Given the description of an element on the screen output the (x, y) to click on. 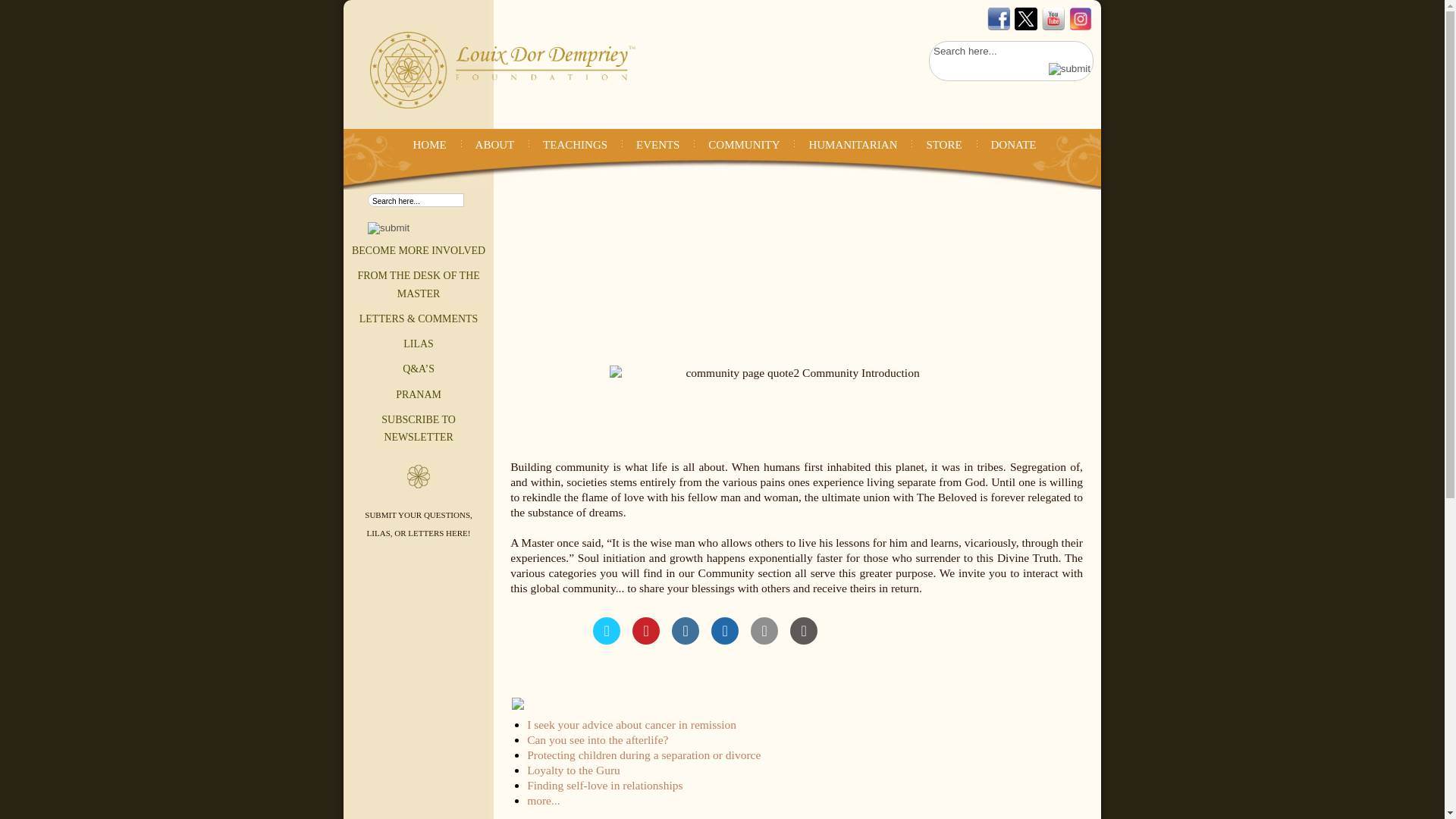
STORE (943, 144)
HOME (429, 144)
BECOME MORE INVOLVED (418, 250)
FROM THE DESK OF THE MASTER (417, 284)
ABOUT (494, 144)
Search here... (1000, 50)
submit (388, 227)
HUMANITARIAN (852, 144)
submit (1069, 70)
EVENTS (657, 144)
